Given the description of an element on the screen output the (x, y) to click on. 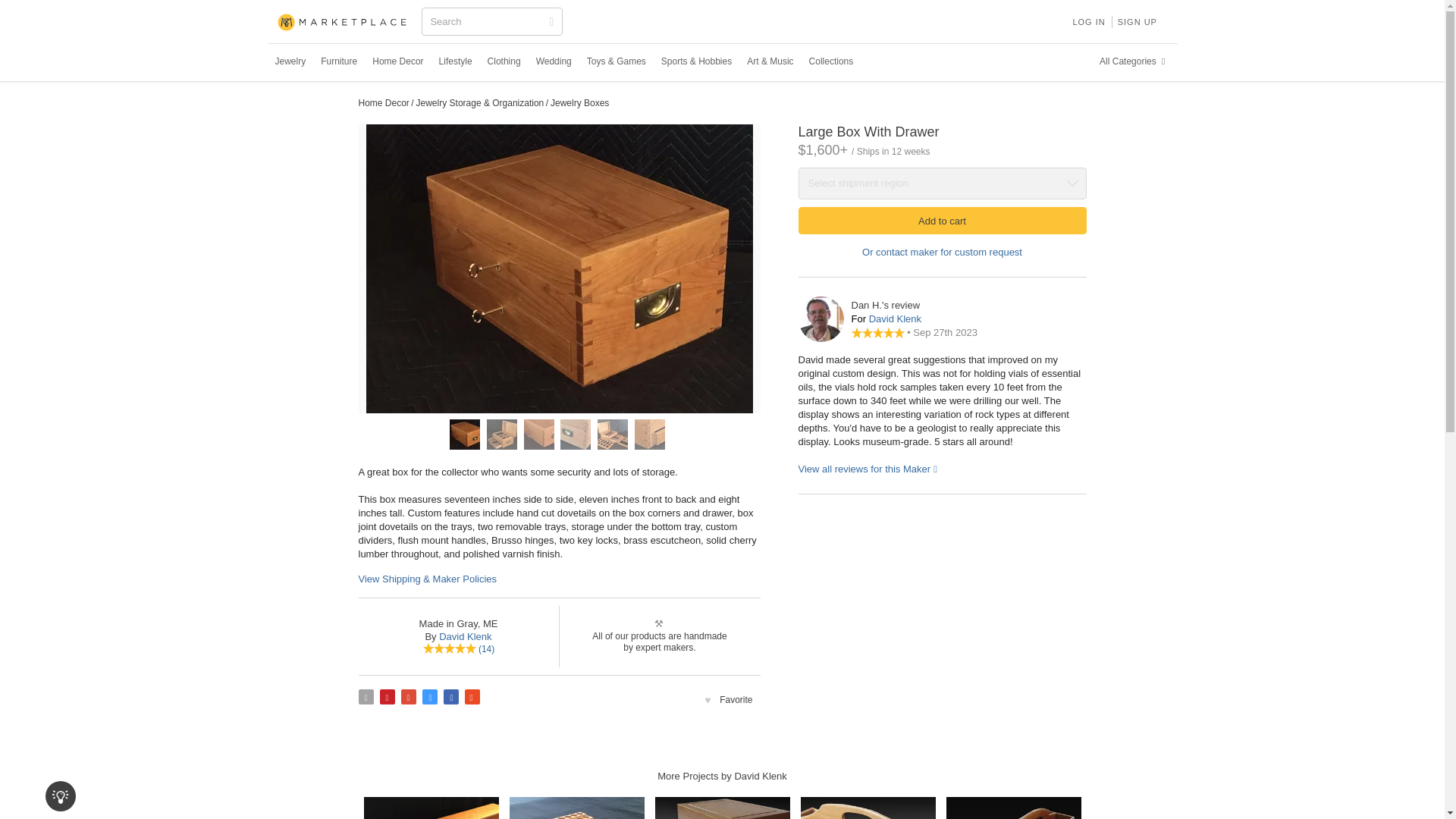
LOG IN (1087, 21)
SIGN UP (1137, 21)
CUSTOMMADE (342, 22)
Log in to CustomMade (1087, 21)
Custom Jewelry (289, 61)
Jewelry (289, 61)
All Categories (1134, 61)
